Given the description of an element on the screen output the (x, y) to click on. 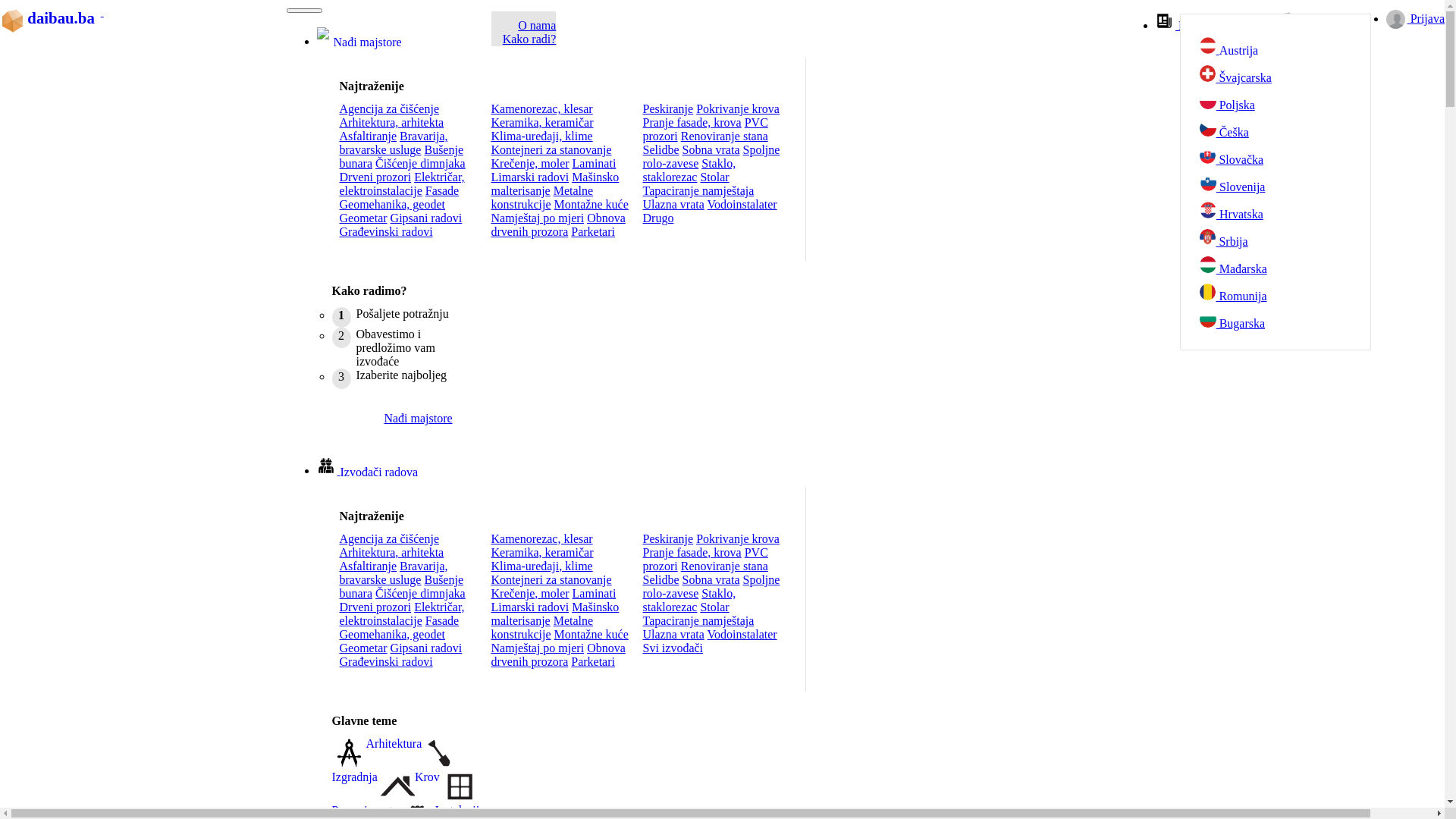
Kako radi? Element type: text (529, 38)
O nama Element type: text (536, 24)
Drveni prozori Element type: text (375, 606)
Pranje fasade, krova Element type: text (692, 552)
Staklo, staklorezac Element type: text (689, 599)
PVC prozori Element type: text (705, 559)
Bravarija, bravarske usluge Element type: text (393, 572)
Daibau magazin Element type: text (1206, 24)
Kontejneri za stanovanje Element type: text (551, 579)
Limarski radovi Element type: text (530, 606)
Renoviranje stana Element type: text (724, 565)
Drugo Element type: text (658, 217)
daibau.ba Element type: text (51, 11)
Geomehanika, geodet Element type: text (392, 633)
Geomehanika, geodet Element type: text (392, 203)
Fasade Element type: text (441, 620)
Slovenija Element type: text (1294, 183)
Austrija Element type: text (1294, 45)
Peskiranje Element type: text (668, 538)
Bravarija, bravarske usluge Element type: text (393, 142)
Metalne konstrukcije Element type: text (542, 627)
Parketari Element type: text (593, 231)
O nama Element type: text (1309, 22)
Arhitektura, arhitekta Element type: text (391, 122)
Laminati Element type: text (594, 592)
Metalne konstrukcije Element type: text (542, 197)
Poljska Element type: text (1294, 102)
Selidbe Element type: text (661, 149)
Ulazna vrata Element type: text (673, 203)
Kamenorezac, klesar Element type: text (542, 538)
Limarski radovi Element type: text (530, 176)
Romunija Element type: text (1294, 293)
Fasade Element type: text (441, 190)
O nama Element type: text (1309, 25)
Gipsani radovi Element type: text (426, 647)
Vodoinstalater Element type: text (741, 203)
Izgradnja Element type: text (395, 779)
Stolar Element type: text (713, 176)
Hrvatska Element type: text (1294, 211)
Ulazna vrata Element type: text (673, 633)
Renoviranje stana Element type: text (724, 135)
Gipsani radovi Element type: text (426, 217)
Obnova drvenih prozora Element type: text (558, 654)
Vodoinstalater Element type: text (741, 633)
Srbija Element type: text (1294, 238)
Staklo, staklorezac Element type: text (689, 169)
Obnova drvenih prozora Element type: text (558, 224)
Pokrivanje krova Element type: text (737, 538)
Kontejneri za stanovanje Element type: text (551, 149)
Arhitektura, arhitekta Element type: text (391, 552)
Peskiranje Element type: text (668, 108)
Prijava Element type: text (1415, 18)
PVC prozori Element type: text (705, 129)
Bugarska Element type: text (1294, 320)
Asfaltiranje Element type: text (368, 565)
Asfaltiranje Element type: text (368, 135)
Sobna vrata Element type: text (711, 149)
Sobna vrata Element type: text (711, 579)
Kamenorezac, klesar Element type: text (542, 108)
Krov Element type: text (409, 796)
Spoljne rolo-zavese Element type: text (711, 156)
Drveni prozori Element type: text (375, 176)
Laminati Element type: text (594, 162)
Parketari Element type: text (593, 661)
Stolar Element type: text (713, 606)
Spoljne rolo-zavese Element type: text (711, 586)
Pokrivanje krova Element type: text (737, 108)
Geometar Element type: text (363, 217)
Pranje fasade, krova Element type: text (692, 122)
Selidbe Element type: text (661, 579)
Geometar Element type: text (363, 647)
Arhitektura Element type: text (377, 762)
